Given the description of an element on the screen output the (x, y) to click on. 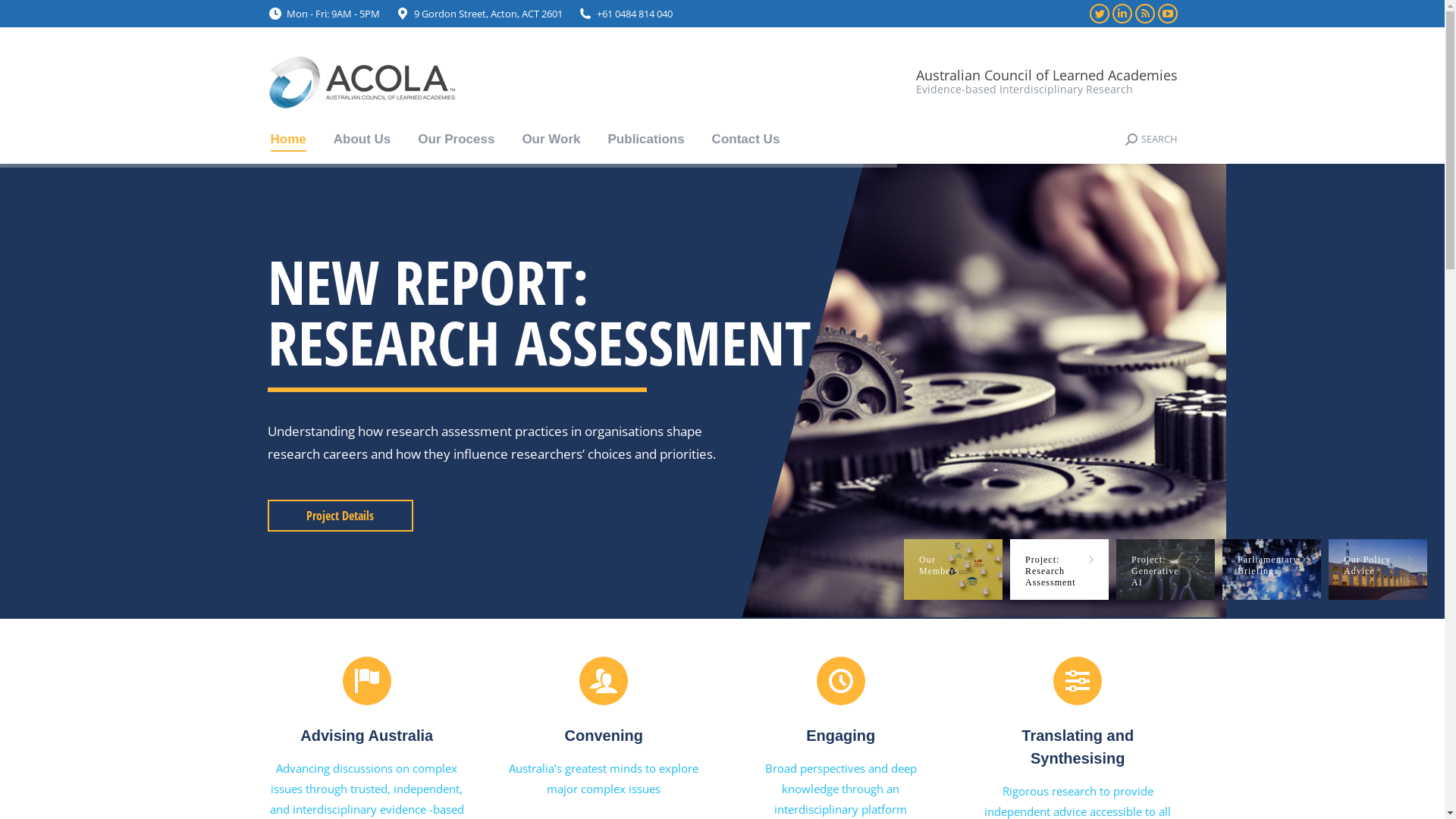
LEARNED ACADEMIES Element type: text (538, 311)
YouTube page opens in new window Element type: text (1166, 13)
Contact Us Element type: text (746, 139)
Home Element type: text (287, 139)
Publications Element type: text (646, 139)
About Us Element type: text (362, 139)
SEARCH Element type: text (1151, 138)
Rss page opens in new window Element type: text (1144, 13)
Our Process Element type: text (455, 139)
Twitter page opens in new window Element type: text (1098, 13)
Linkedin page opens in new window Element type: text (1121, 13)
Members' Details Element type: text (339, 515)
Go! Element type: text (24, 16)
Our Work Element type: text (550, 139)
